Given the description of an element on the screen output the (x, y) to click on. 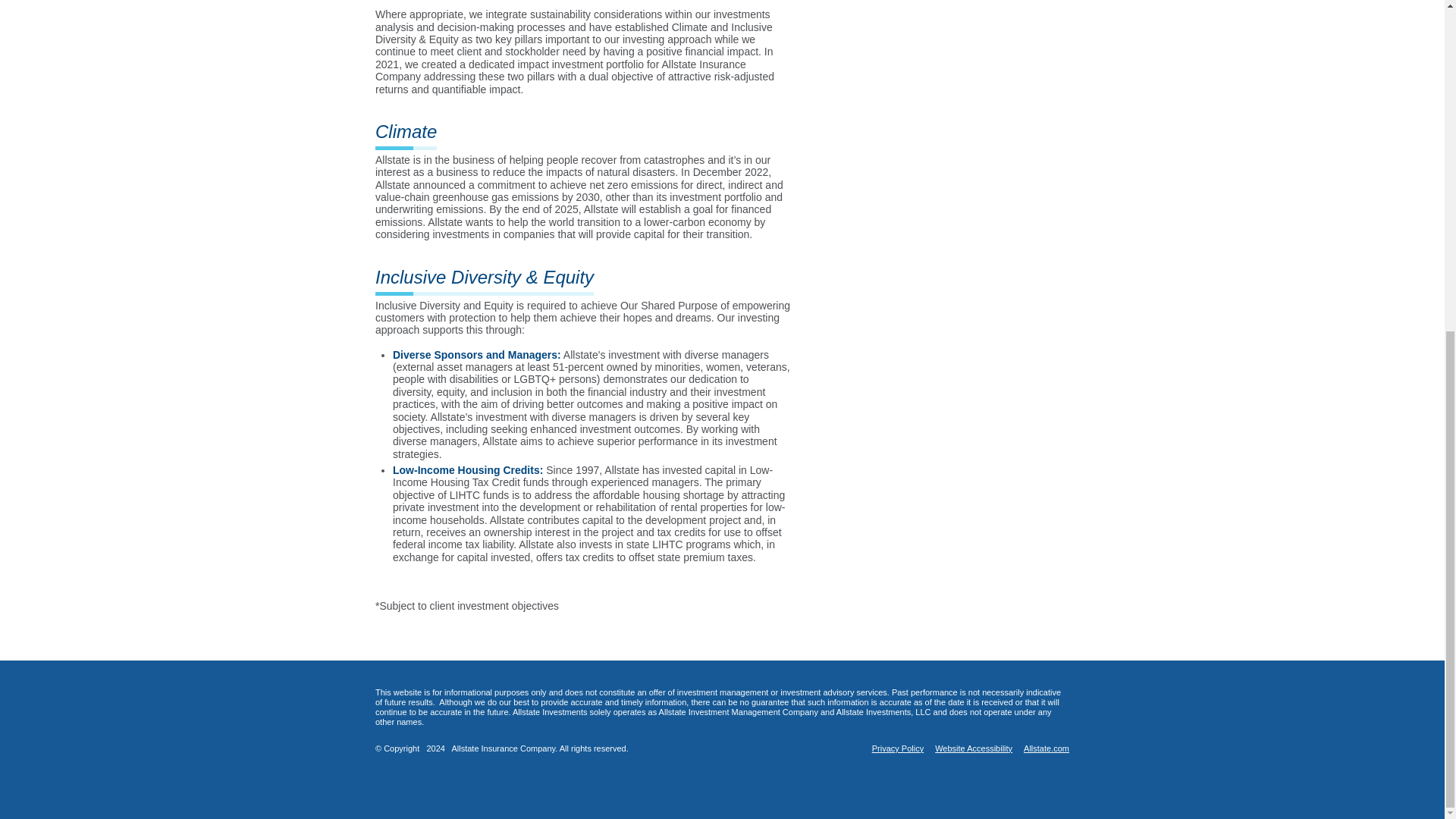
Privacy Policy (897, 747)
Website Accessibility (972, 747)
Allstate.com (1045, 747)
